Given the description of an element on the screen output the (x, y) to click on. 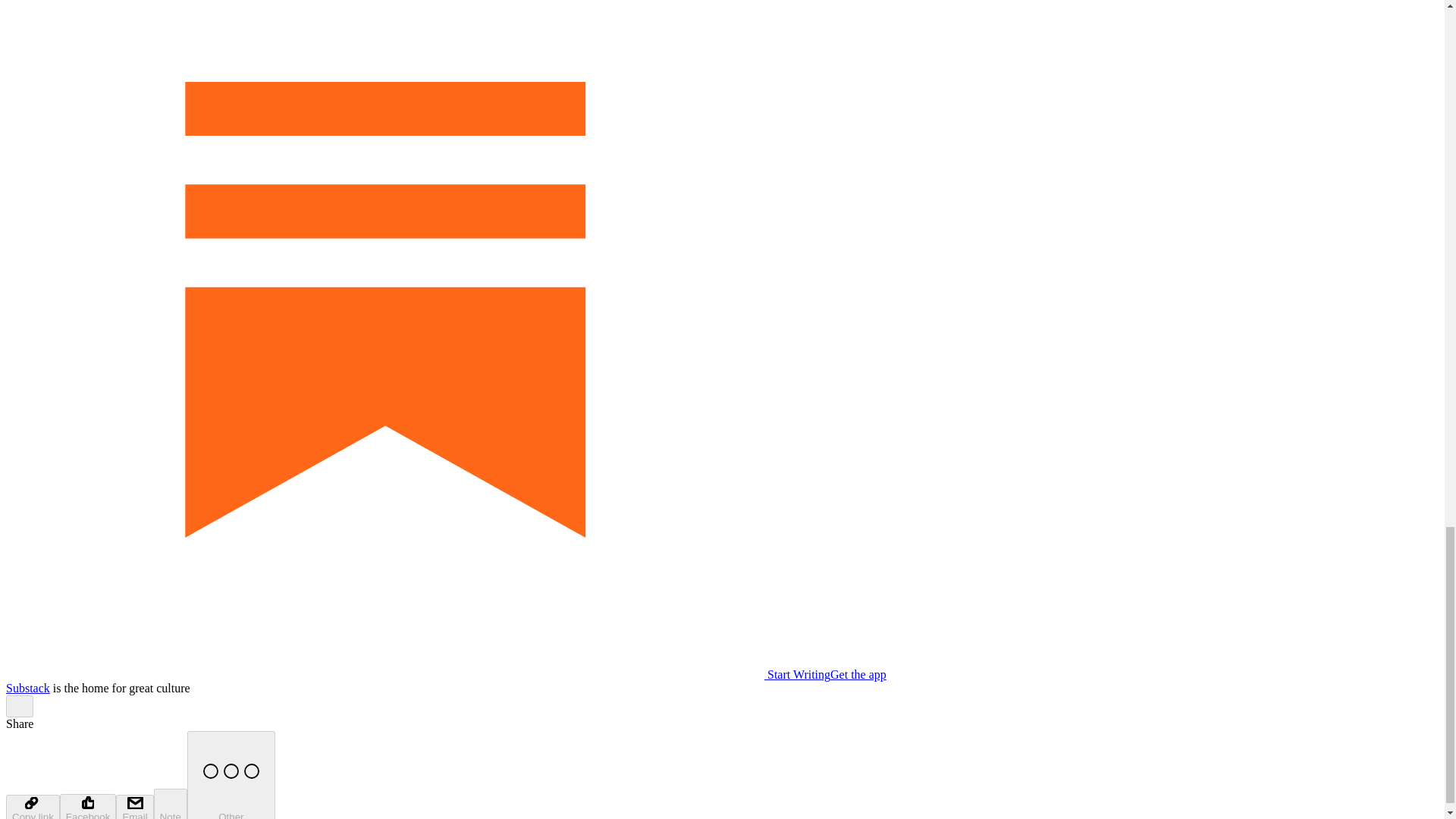
Start Writing (417, 674)
Substack (27, 687)
Get the app (857, 674)
